Given the description of an element on the screen output the (x, y) to click on. 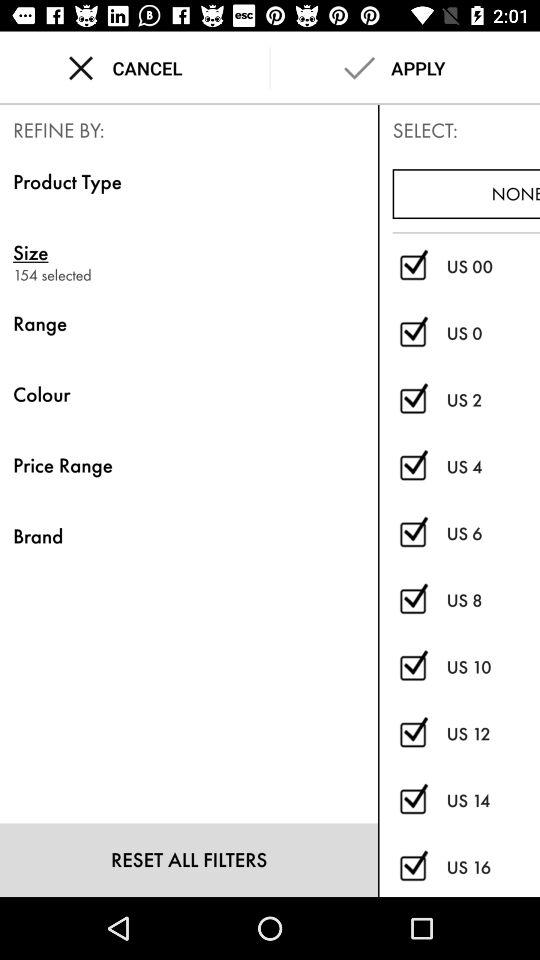
us 2 checkbox (412, 400)
